Given the description of an element on the screen output the (x, y) to click on. 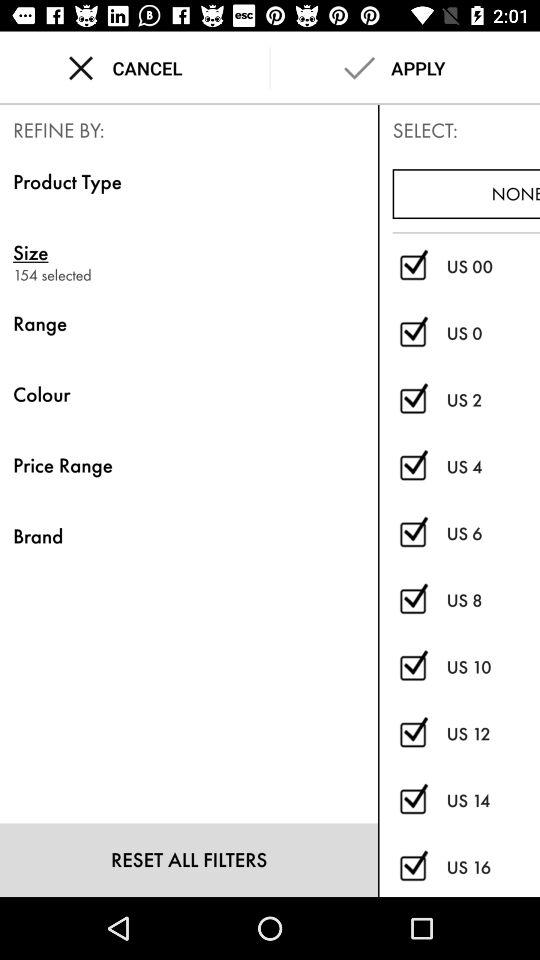
us 2 checkbox (412, 400)
